Given the description of an element on the screen output the (x, y) to click on. 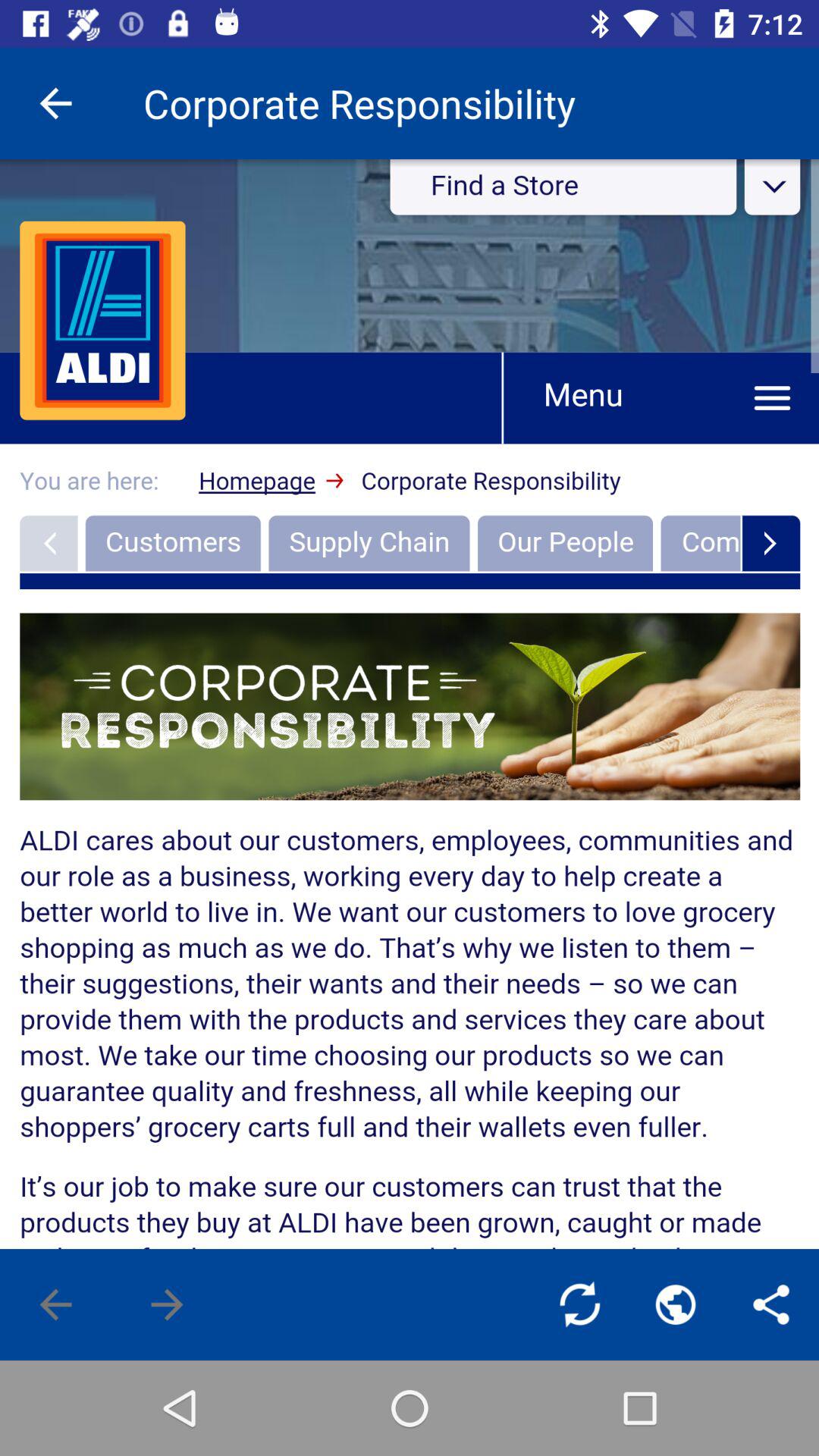
launch the icon to the left of the corporate responsibility (55, 103)
